Given the description of an element on the screen output the (x, y) to click on. 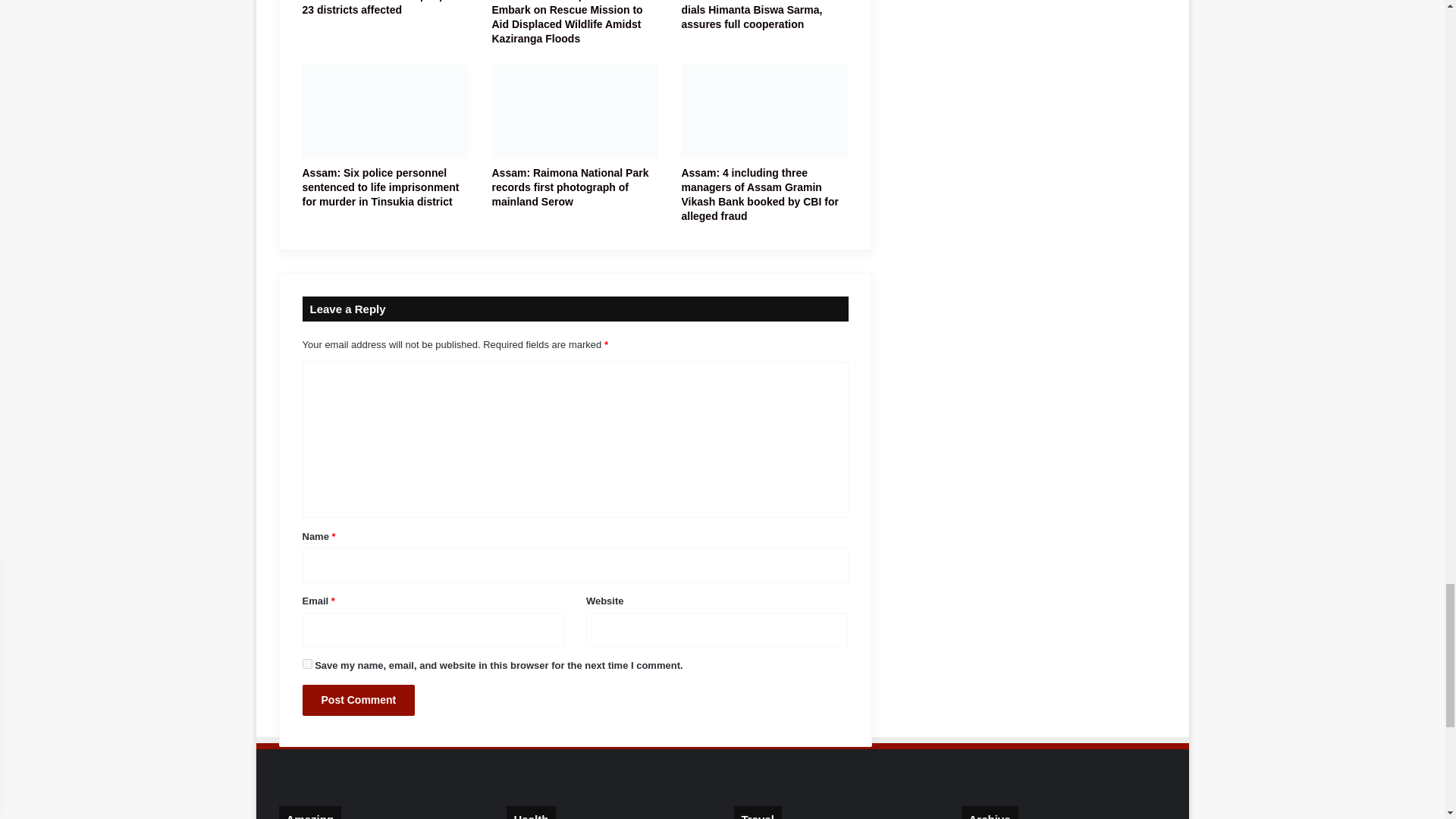
yes (306, 664)
Post Comment (357, 699)
